Given the description of an element on the screen output the (x, y) to click on. 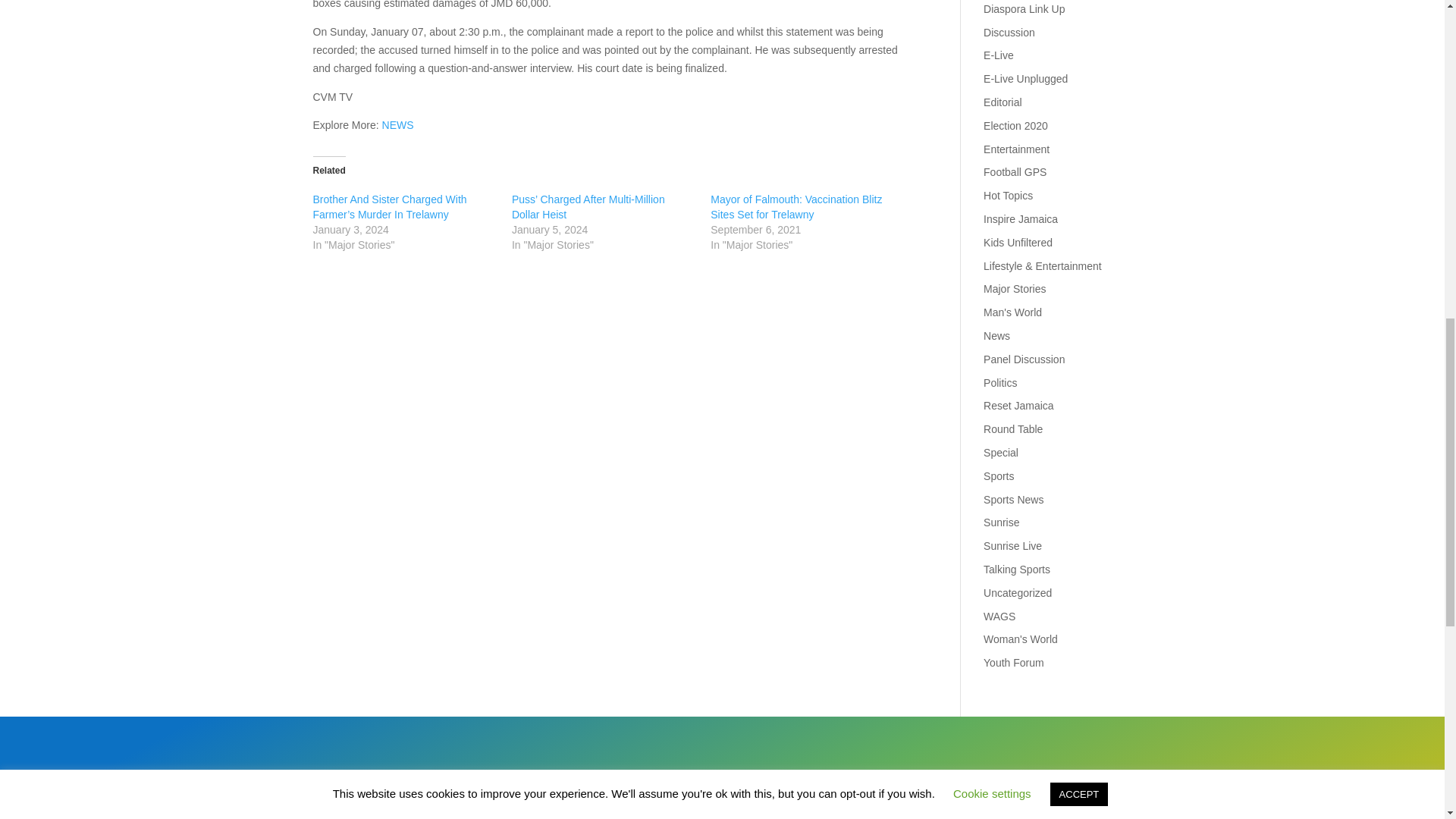
Diaspora Link Up (1024, 9)
E-Live Unplugged (1025, 78)
Hot Topics (1008, 195)
Editorial (1003, 102)
Football GPS (1015, 172)
Entertainment (1016, 149)
Discussion (1009, 32)
Election 2020 (1016, 125)
Kids Unfiltered (1018, 242)
E-Live (998, 55)
NEWS (397, 124)
Major Stories (1014, 288)
Inspire Jamaica (1021, 218)
